Given the description of an element on the screen output the (x, y) to click on. 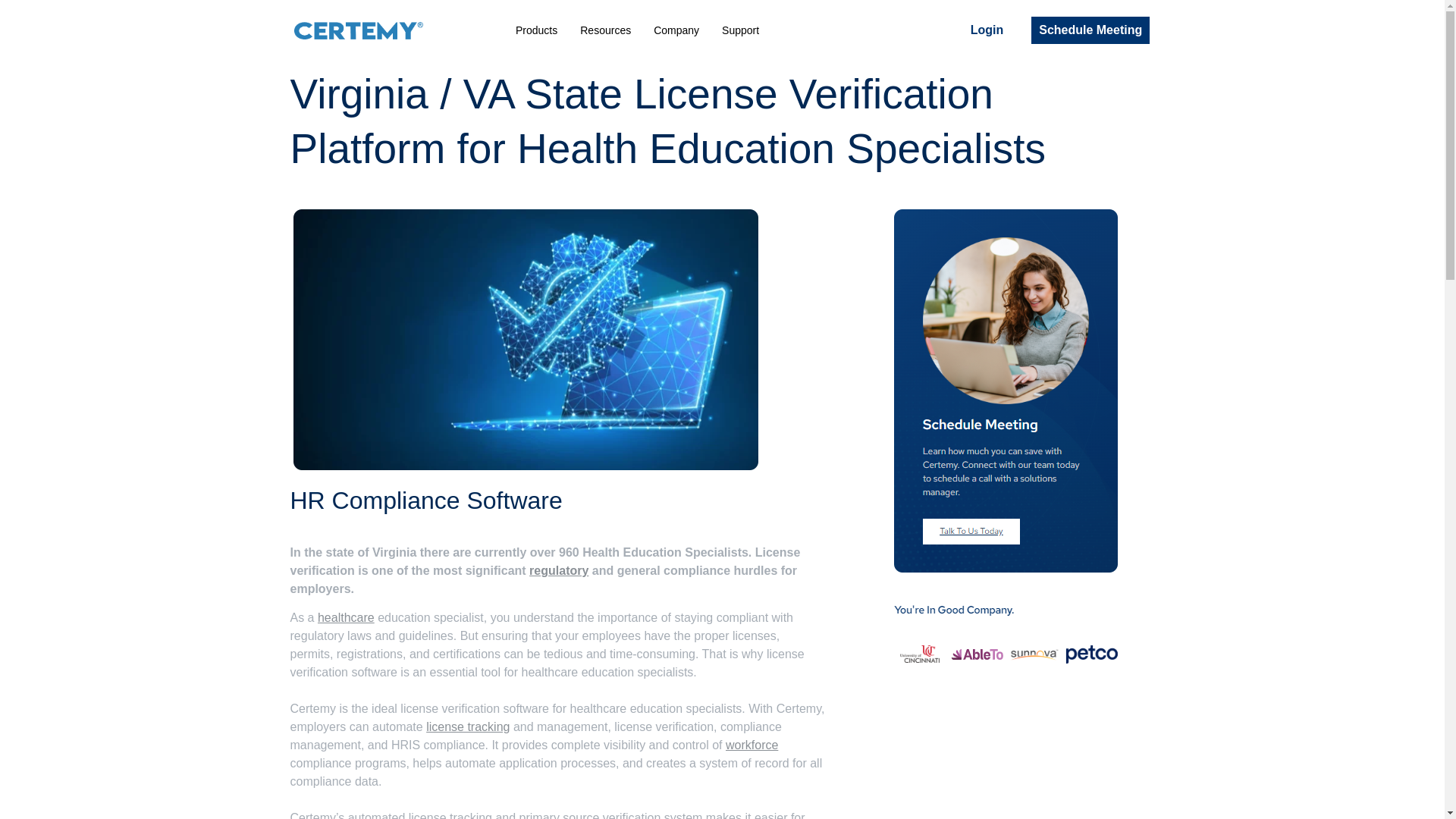
Resources (605, 30)
license tracking (467, 726)
Workforce (751, 744)
healthcare (345, 617)
workforce (751, 744)
Support (740, 30)
Company (676, 30)
Products (536, 30)
regulatory (558, 570)
Regulatory (558, 570)
License Tracking (467, 726)
Login (986, 30)
Healthcare (345, 617)
Schedule Meeting (1090, 30)
